Given the description of an element on the screen output the (x, y) to click on. 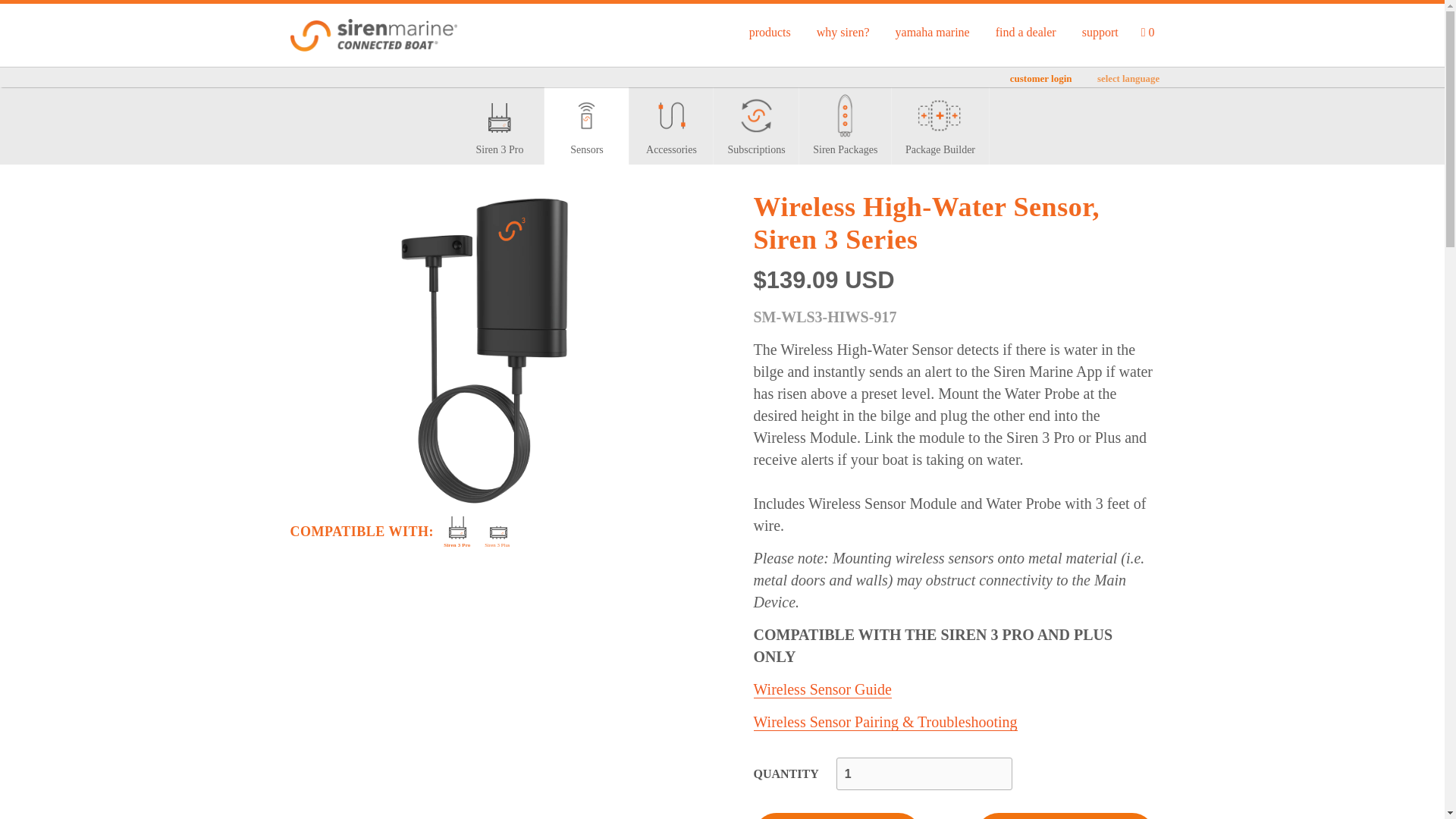
customer login (1040, 78)
products (770, 32)
Siren 3 Pro Wireless Sensor Guide (823, 689)
1 (923, 774)
